Given the description of an element on the screen output the (x, y) to click on. 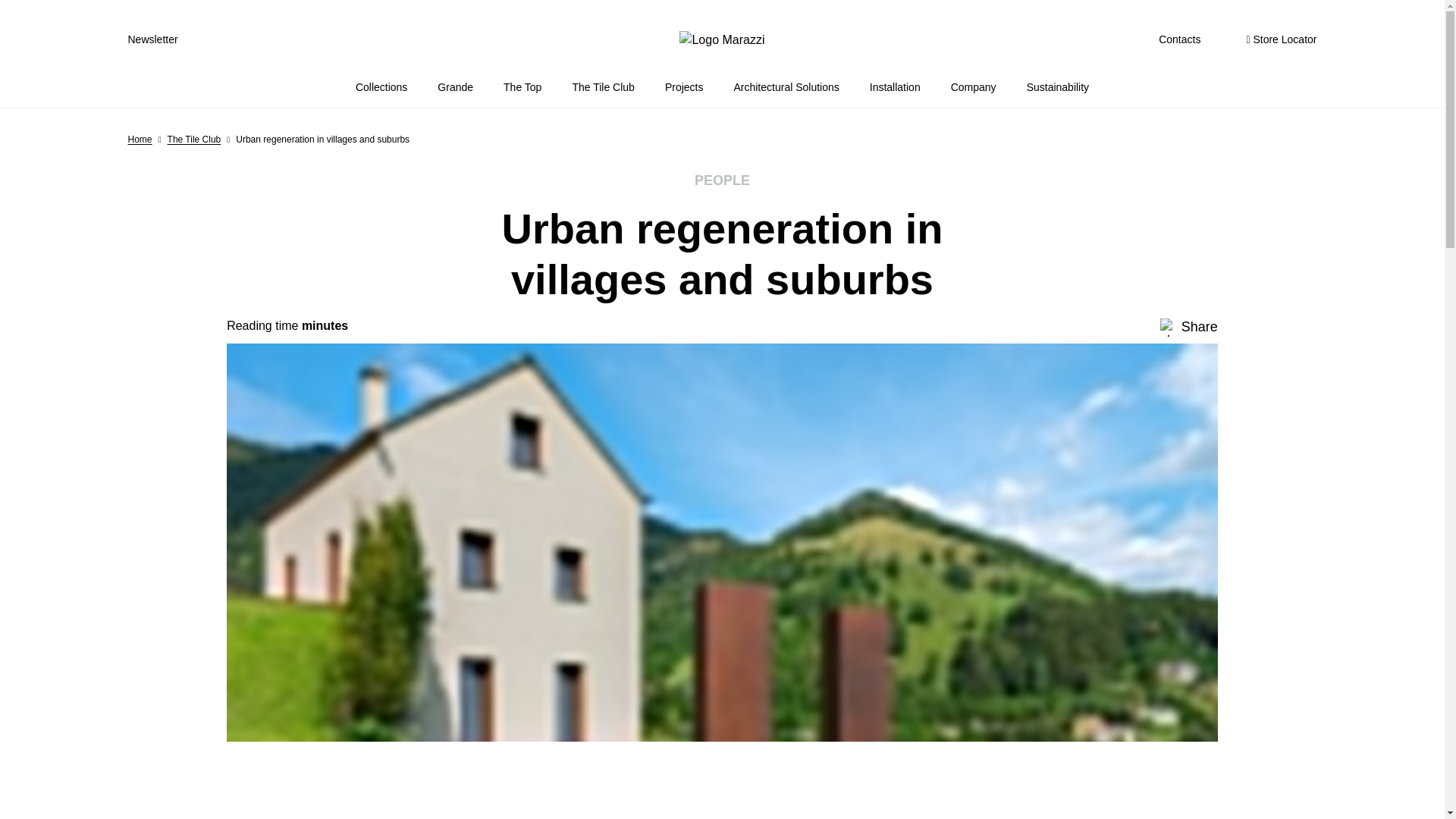
Newsletter (152, 39)
Collections (381, 87)
Contacts (1178, 39)
Store Locator (1281, 39)
Grande (454, 87)
